Given the description of an element on the screen output the (x, y) to click on. 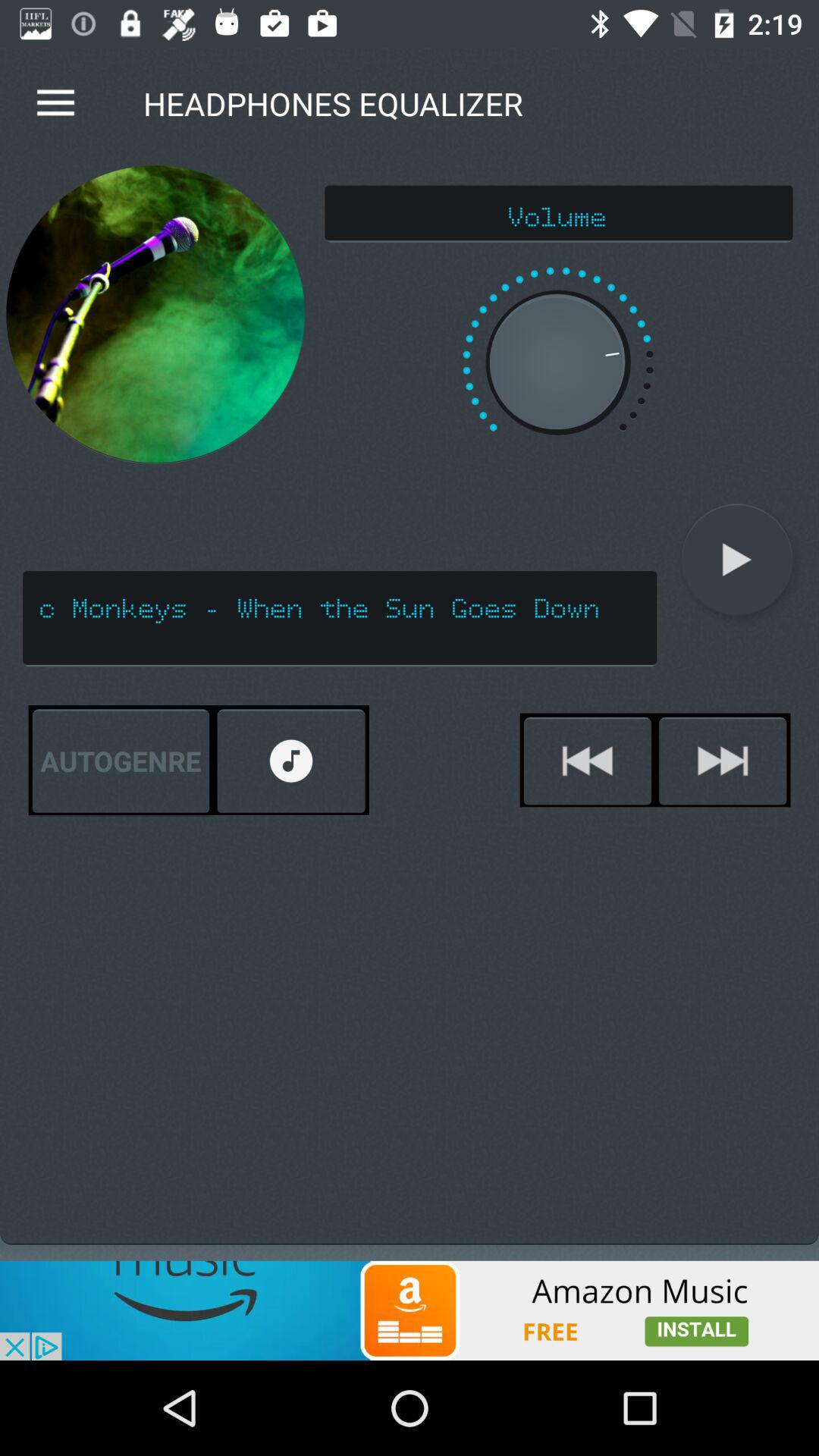
launch the item below the arctic monkeys when item (291, 760)
